Given the description of an element on the screen output the (x, y) to click on. 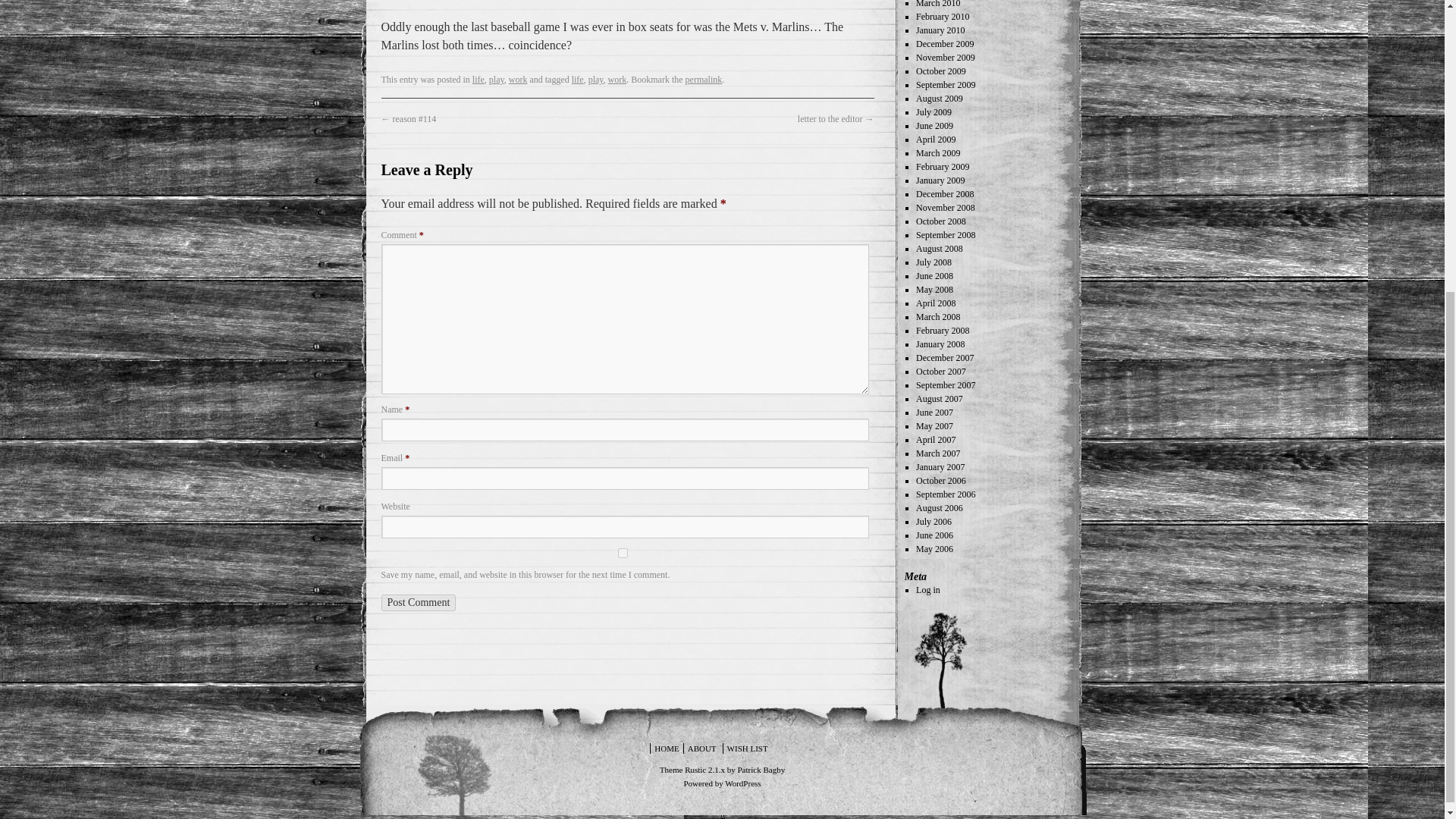
work (617, 79)
February 2010 (942, 16)
October 2009 (940, 71)
play (596, 79)
June 2009 (934, 125)
January 2010 (939, 30)
July 2009 (933, 112)
yes (621, 552)
Permalink to box seats (703, 79)
play (496, 79)
